Given the description of an element on the screen output the (x, y) to click on. 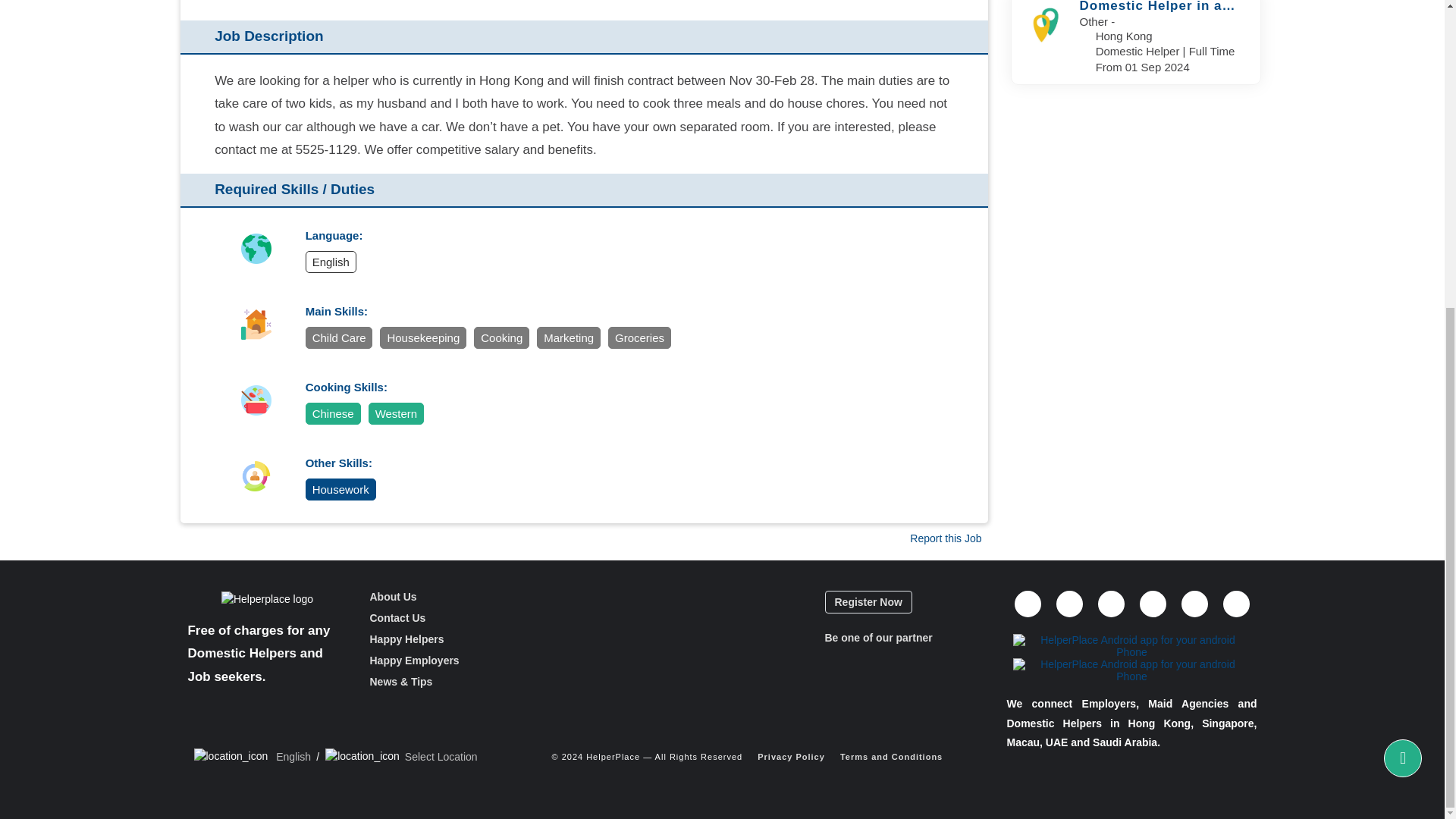
Happy Helpers (406, 639)
About Us (392, 596)
Apply (464, 617)
Contact Us (397, 617)
Happy Employers (414, 660)
